Given the description of an element on the screen output the (x, y) to click on. 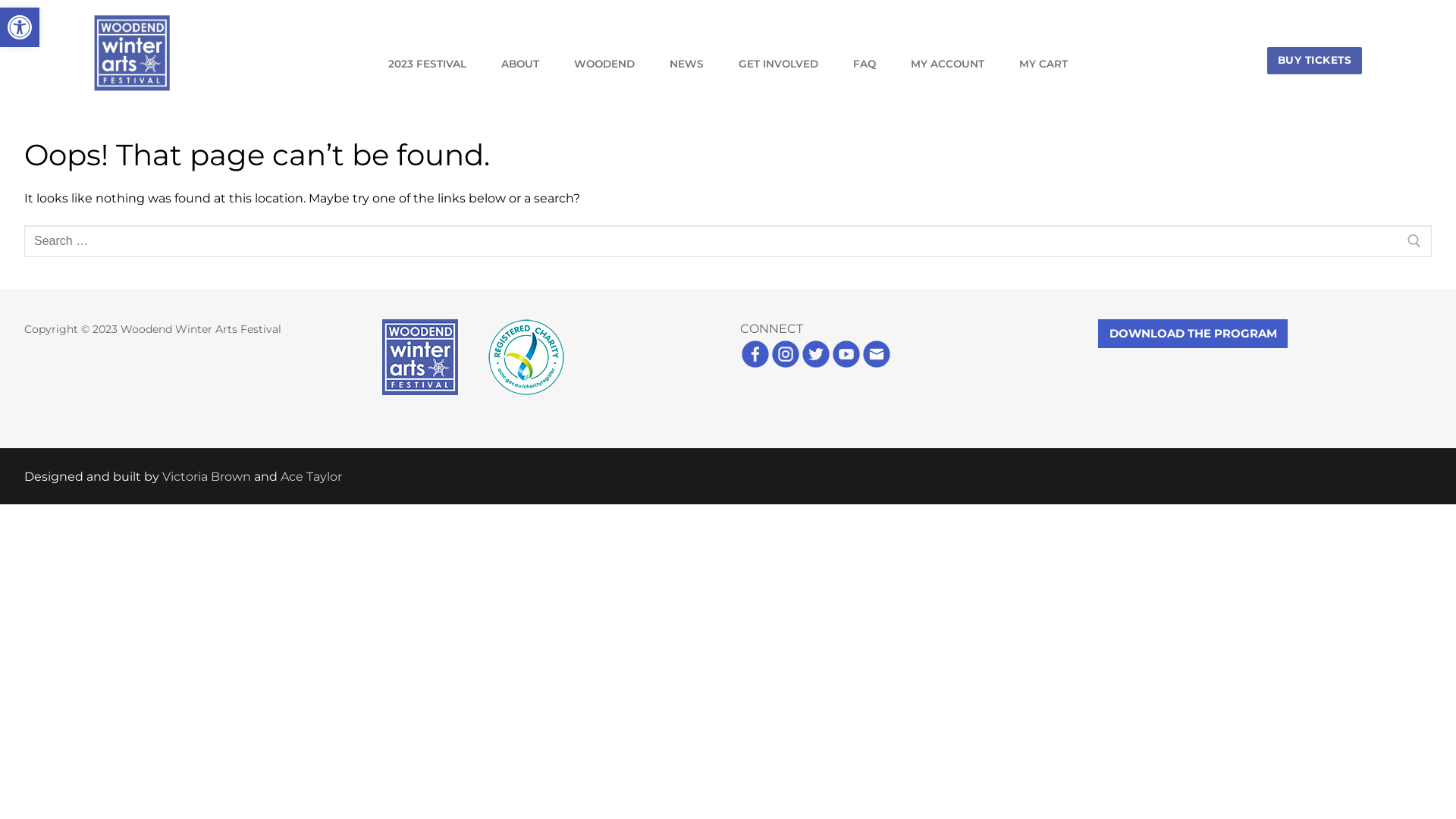
Victoria Brown Element type: text (206, 476)
2023 FESTIVAL Element type: text (427, 64)
Ace Taylor Element type: text (311, 476)
BUY TICKETS Element type: text (1314, 61)
FAQ Element type: text (864, 64)
NEWS Element type: text (686, 64)
Facebook Element type: hover (755, 364)
DOWNLOAD THE PROGRAM Element type: text (1192, 333)
Search for: Element type: hover (727, 241)
Instagram Element type: hover (785, 364)
ABOUT Element type: text (520, 64)
GET INVOLVED Element type: text (778, 64)
WOODEND Element type: text (604, 64)
MY CART Element type: text (1043, 64)
Youtube Element type: hover (846, 364)
Open toolbar
Accessibility Tools Element type: text (19, 27)
Twitter Element type: hover (815, 364)
MY ACCOUNT Element type: text (947, 64)
